Given the description of an element on the screen output the (x, y) to click on. 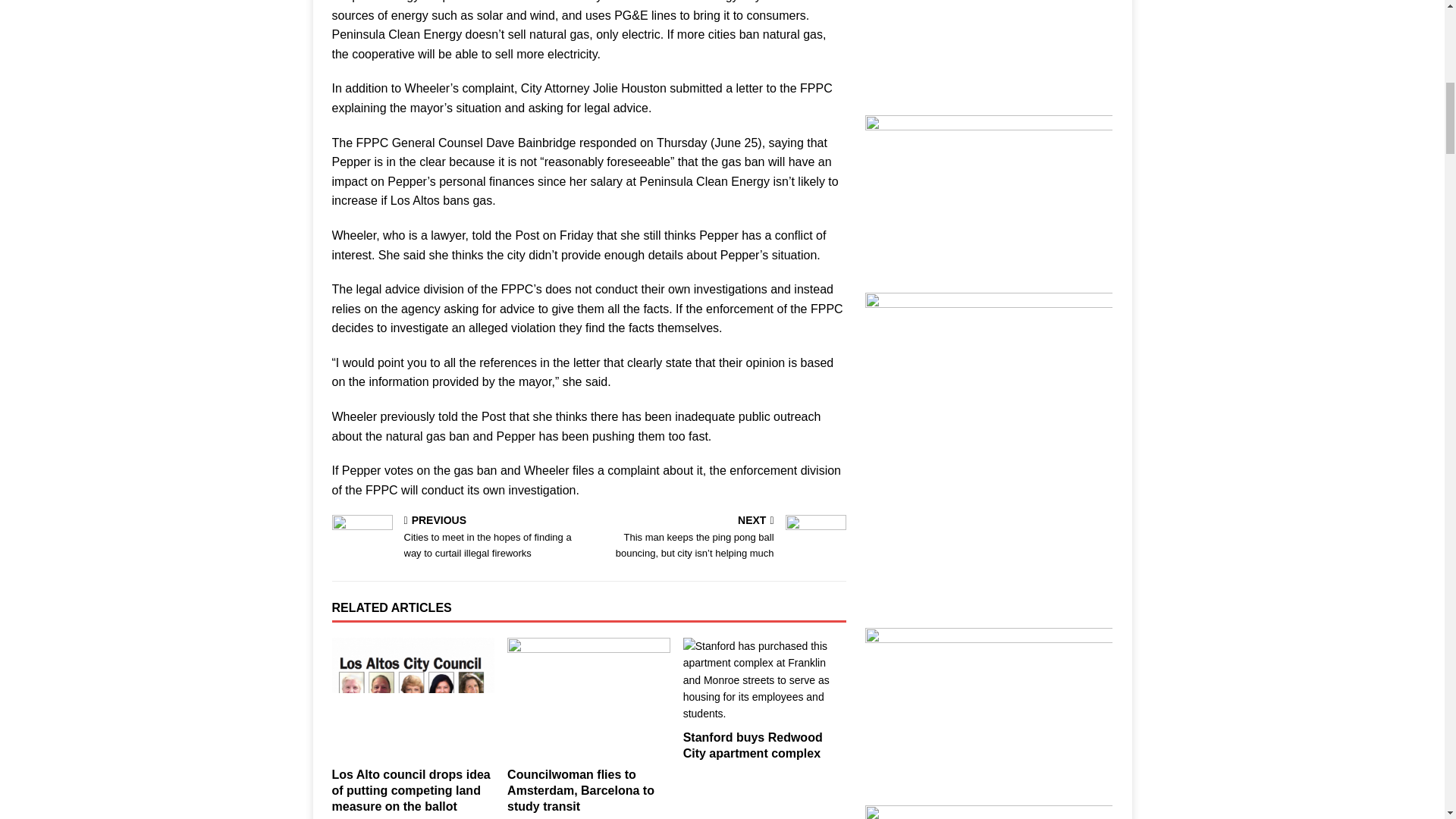
Stanford buys Redwood City apartment complex (752, 745)
Councilwoman flies to Amsterdam, Barcelona to study transit (587, 699)
Councilwoman flies to Amsterdam, Barcelona to study transit (579, 790)
Councilwoman flies to Amsterdam, Barcelona to study transit (579, 790)
